Given the description of an element on the screen output the (x, y) to click on. 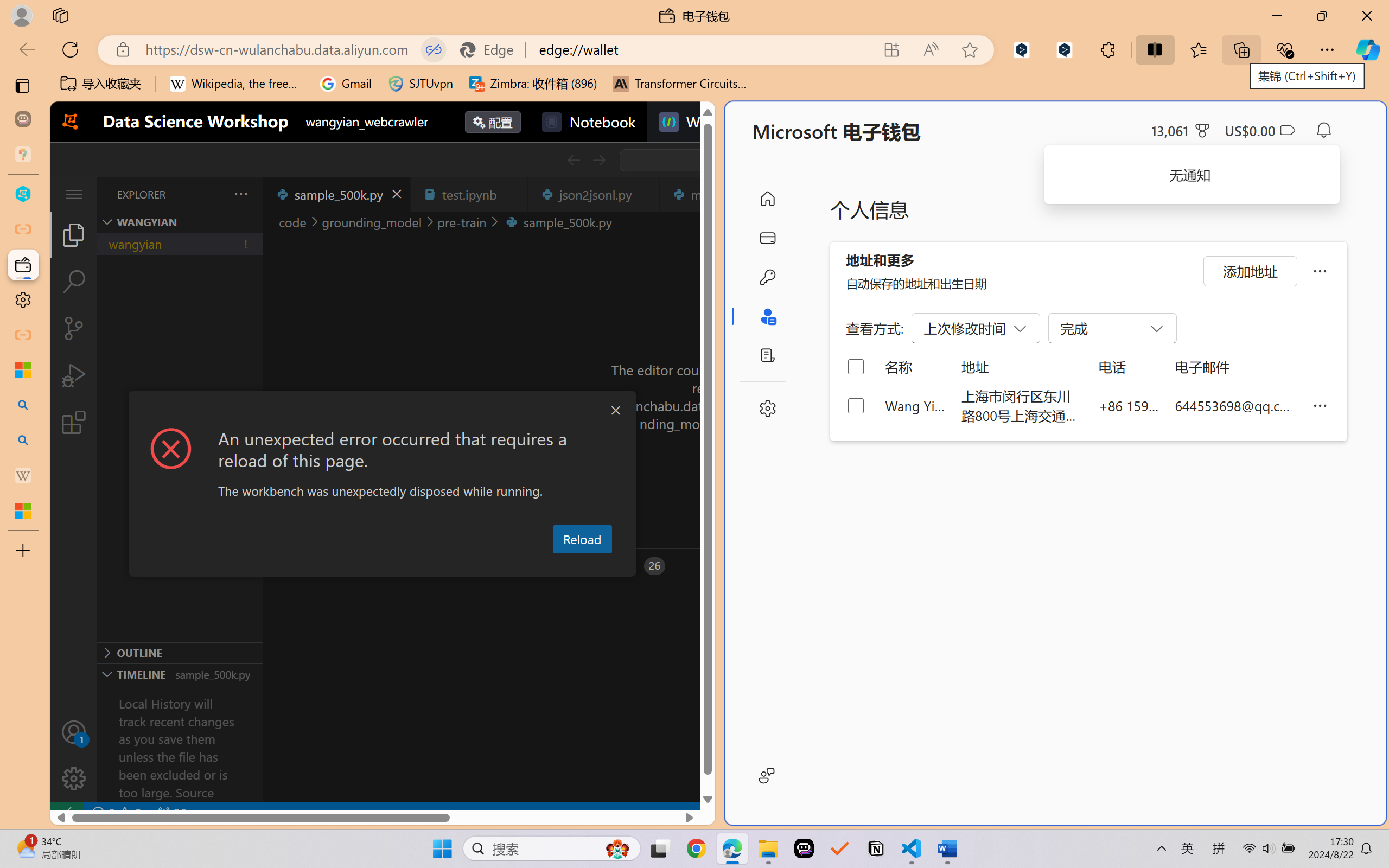
main.py (717, 194)
Explorer Section: wangyian (179, 221)
WebIDE (698, 121)
sample_500k.py (336, 194)
Class: actions-container (381, 410)
wangyian_dsw - DSW (22, 194)
Notebook (588, 121)
Run and Debug (Ctrl+Shift+D) (73, 375)
Explorer actions (212, 194)
